Given the description of an element on the screen output the (x, y) to click on. 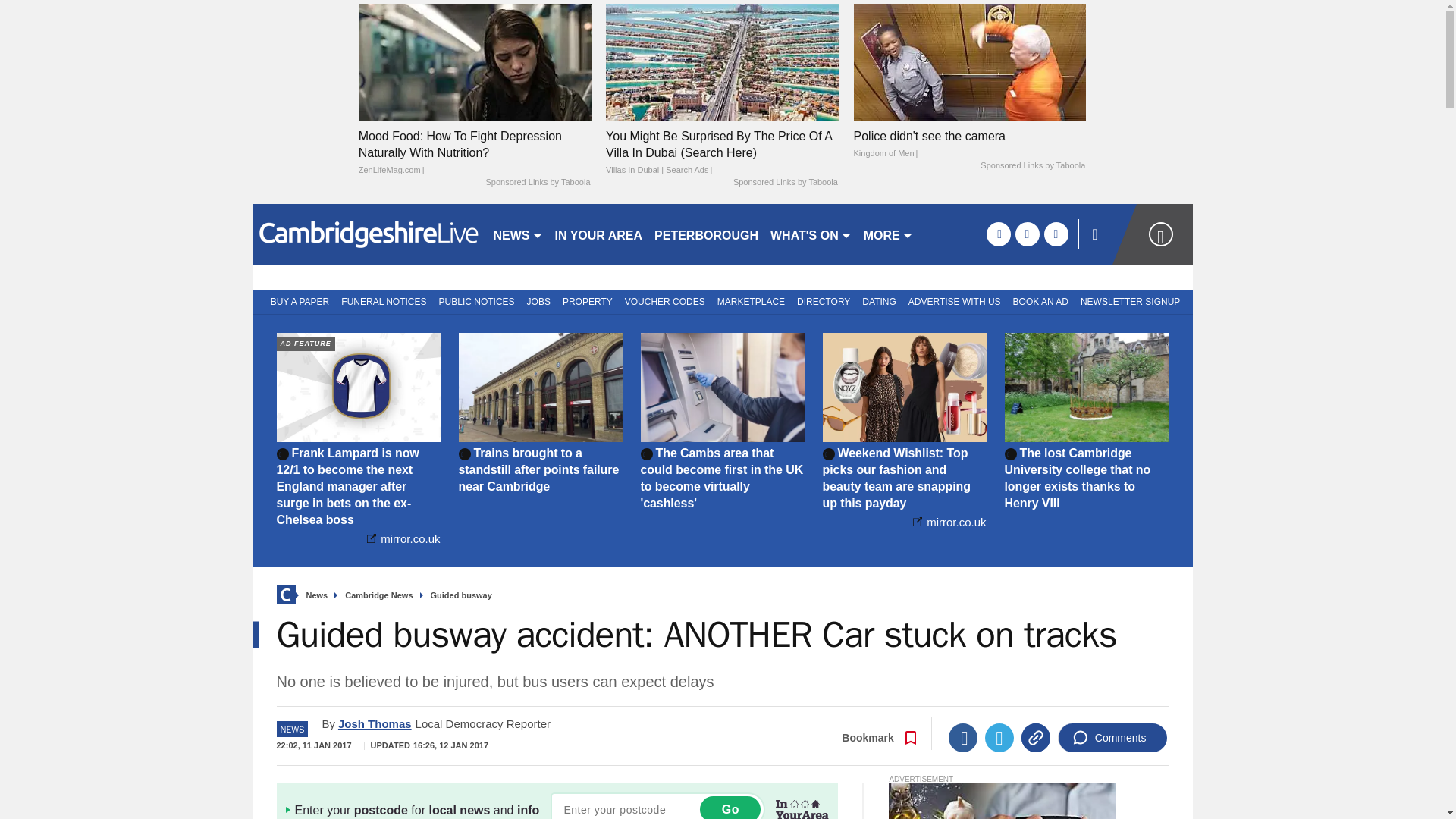
Mood Food: How To Fight Depression Naturally With Nutrition? (474, 61)
Sponsored Links by Taboola (785, 182)
Sponsored Links by Taboola (1031, 165)
IN YOUR AREA (598, 233)
Twitter (999, 737)
Facebook (962, 737)
cambridgenews (365, 233)
facebook (997, 233)
NEWS (517, 233)
WHAT'S ON (810, 233)
twitter (1026, 233)
PETERBOROUGH (705, 233)
Police didn't see the camera (969, 144)
Comments (1112, 737)
instagram (1055, 233)
